Given the description of an element on the screen output the (x, y) to click on. 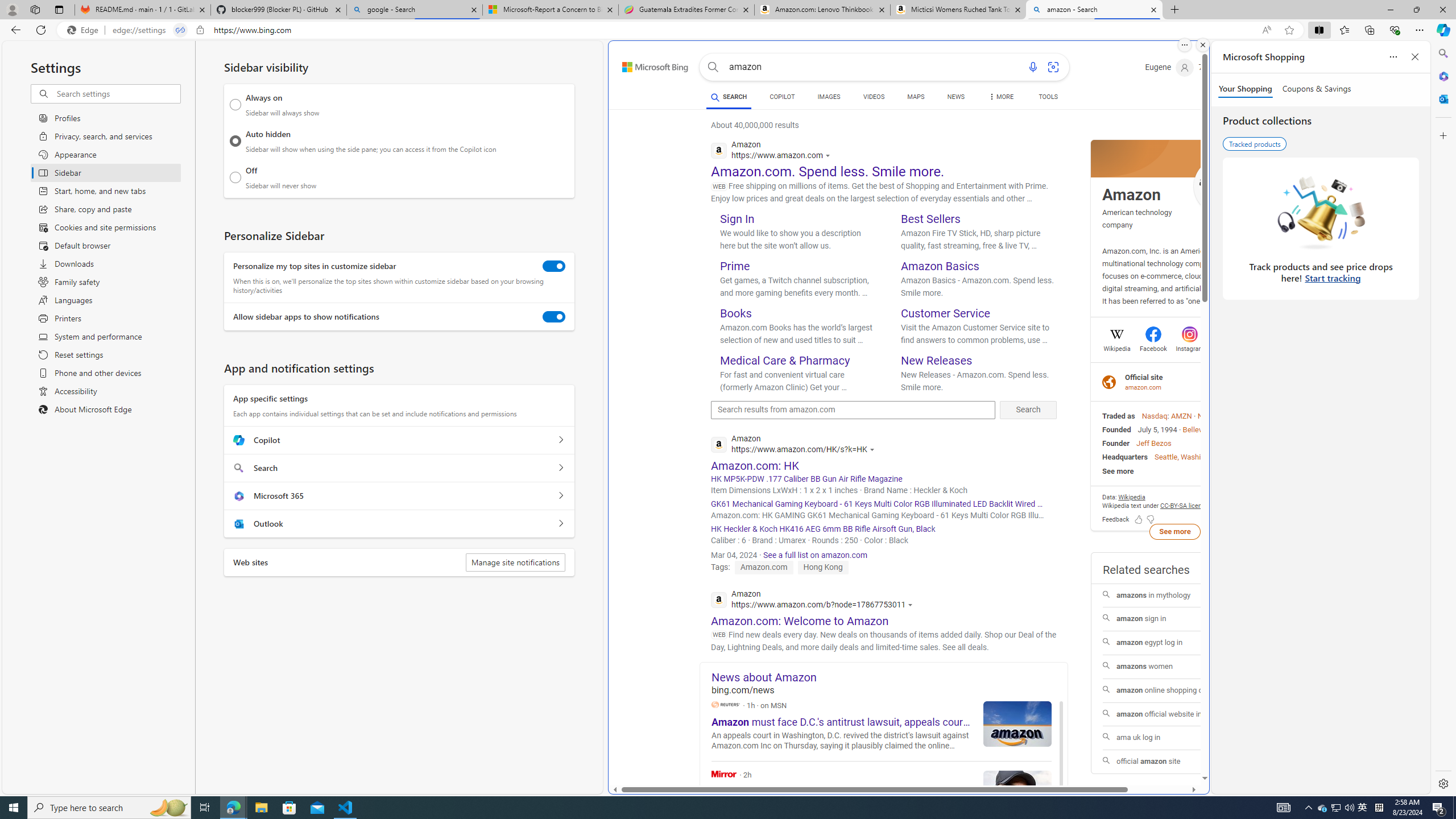
Side bar (1443, 418)
Search settings (117, 93)
American technology company (1137, 218)
See more (1174, 470)
Amazon.com: Welcome to Amazon (799, 620)
Global web icon (718, 599)
amazon official website india (1174, 714)
Books (735, 313)
IMAGES (828, 96)
